Given the description of an element on the screen output the (x, y) to click on. 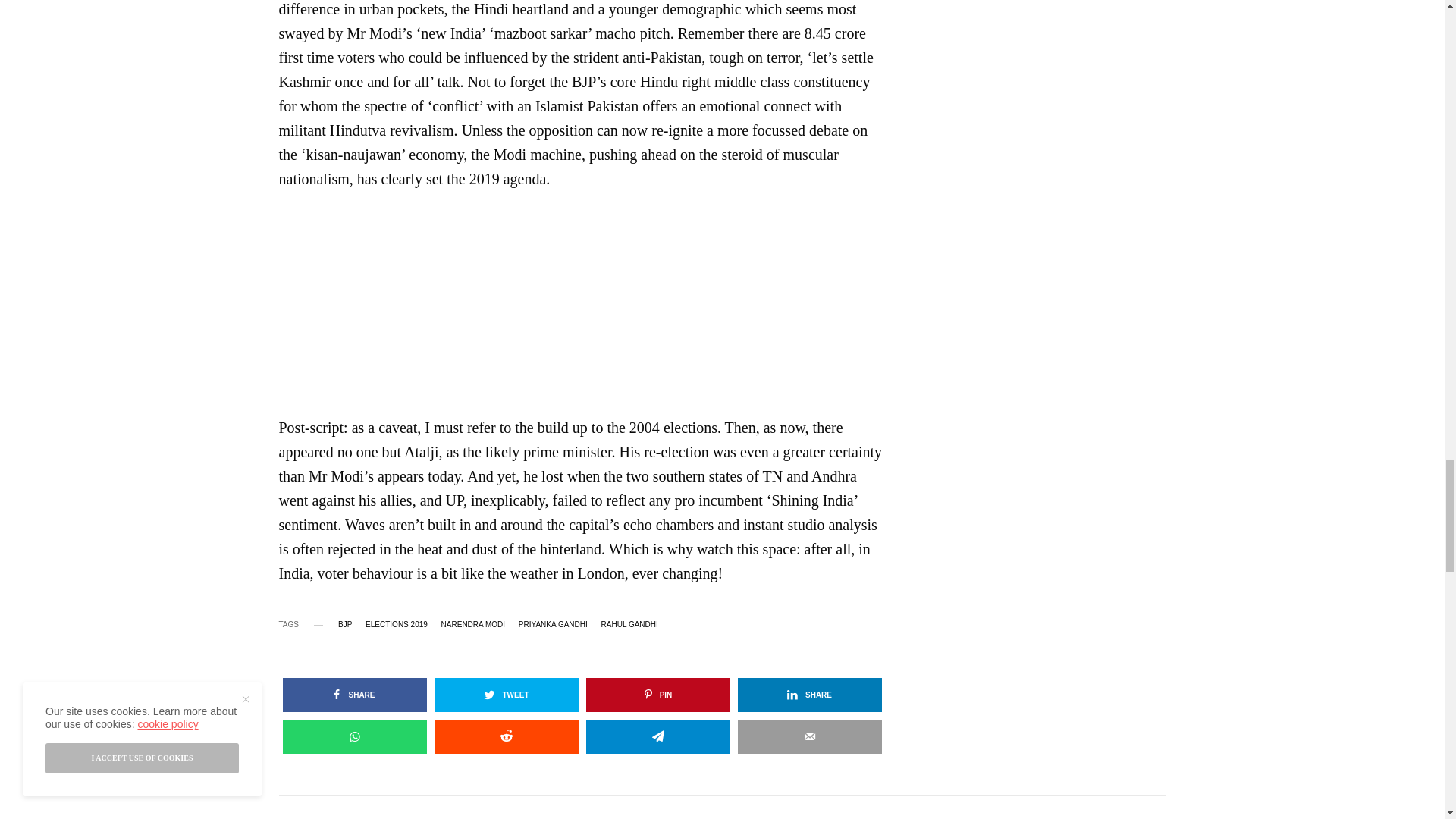
ELECTIONS 2019 (396, 624)
BJP (344, 624)
RAHUL GANDHI (629, 624)
NARENDRA MODI (473, 624)
PRIYANKA GANDHI (553, 624)
